Given the description of an element on the screen output the (x, y) to click on. 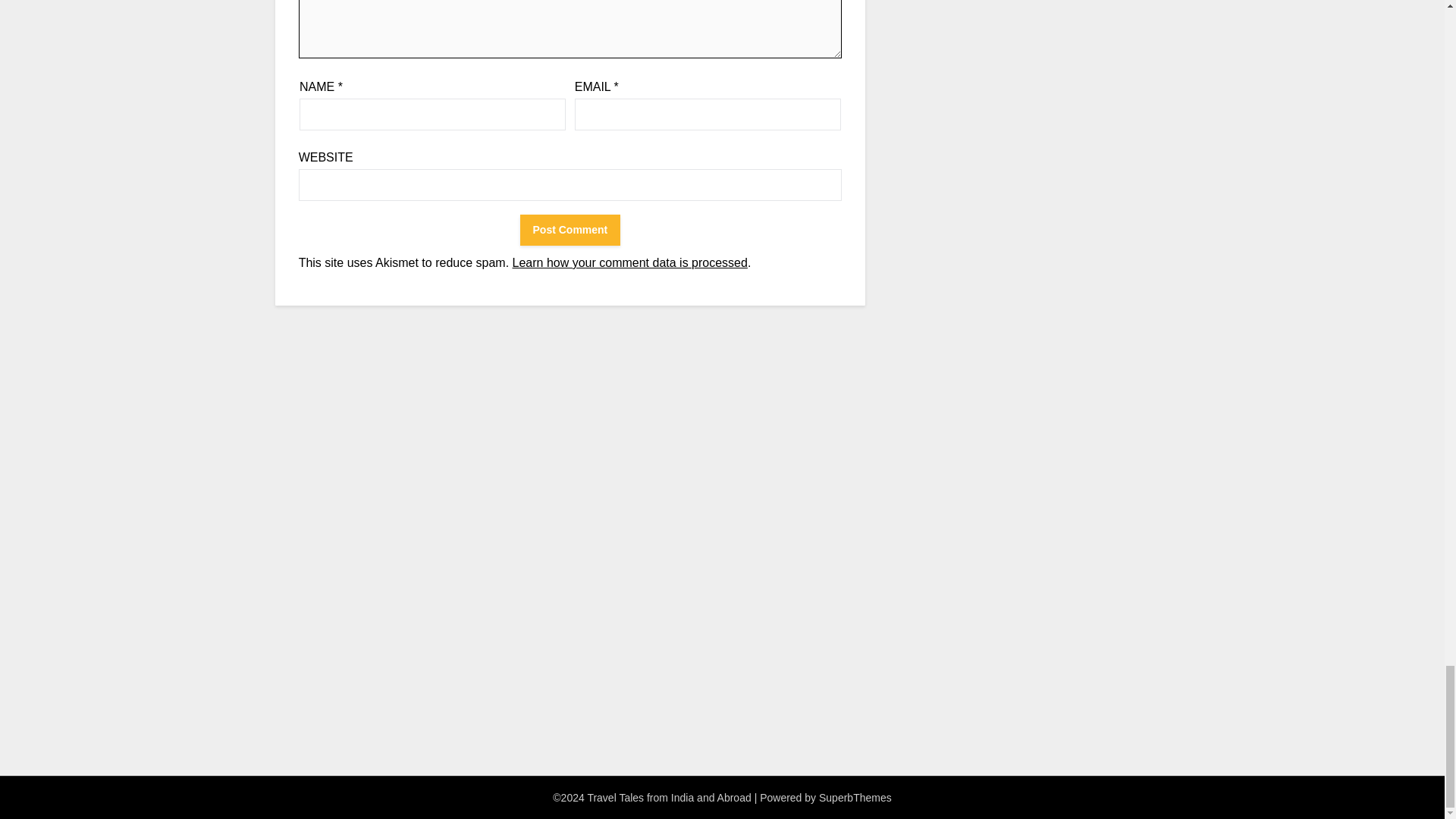
Post Comment (570, 229)
Post Comment (570, 229)
Learn how your comment data is processed (630, 262)
